Given the description of an element on the screen output the (x, y) to click on. 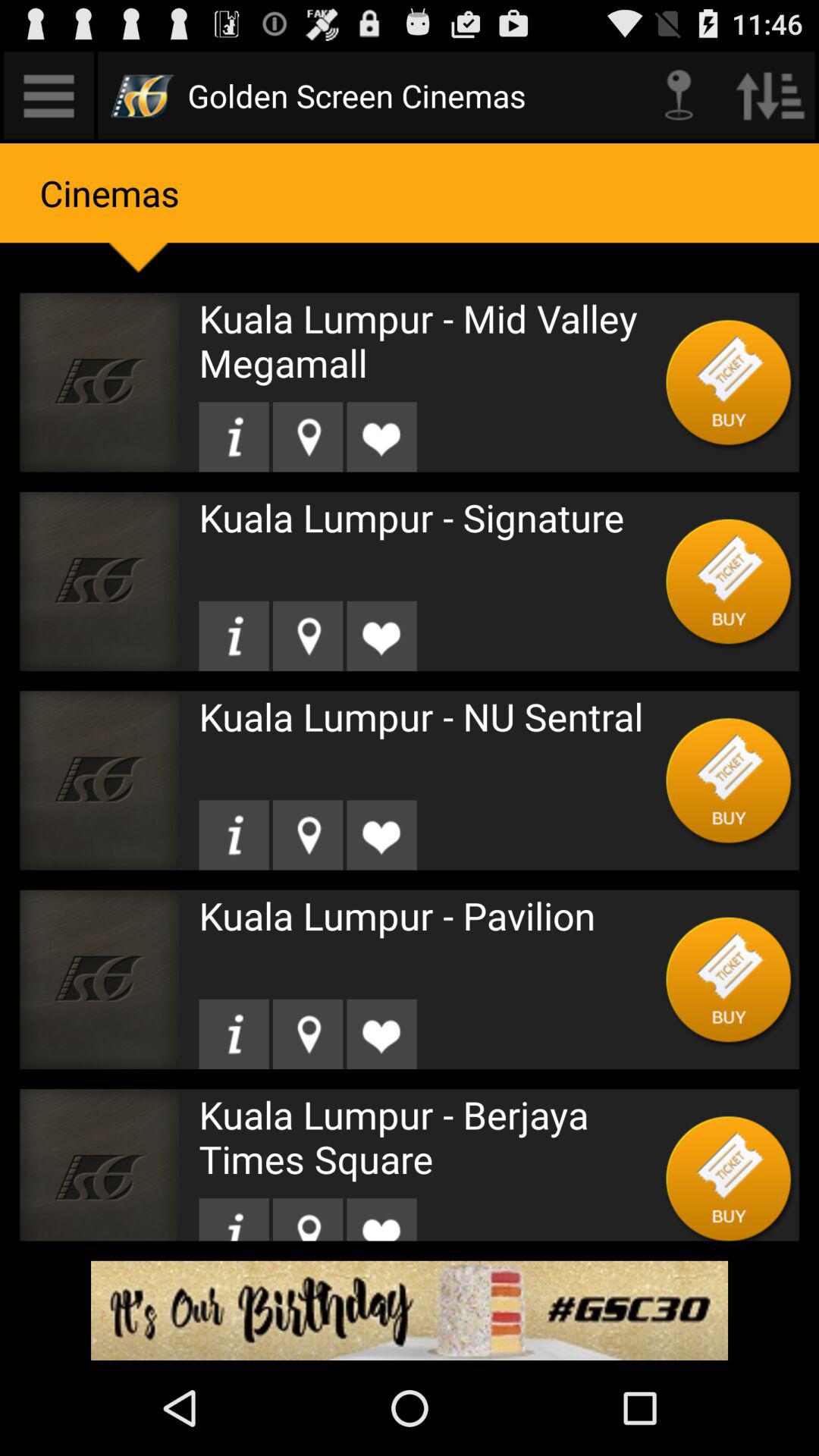
go to purchase (729, 780)
